Given the description of an element on the screen output the (x, y) to click on. 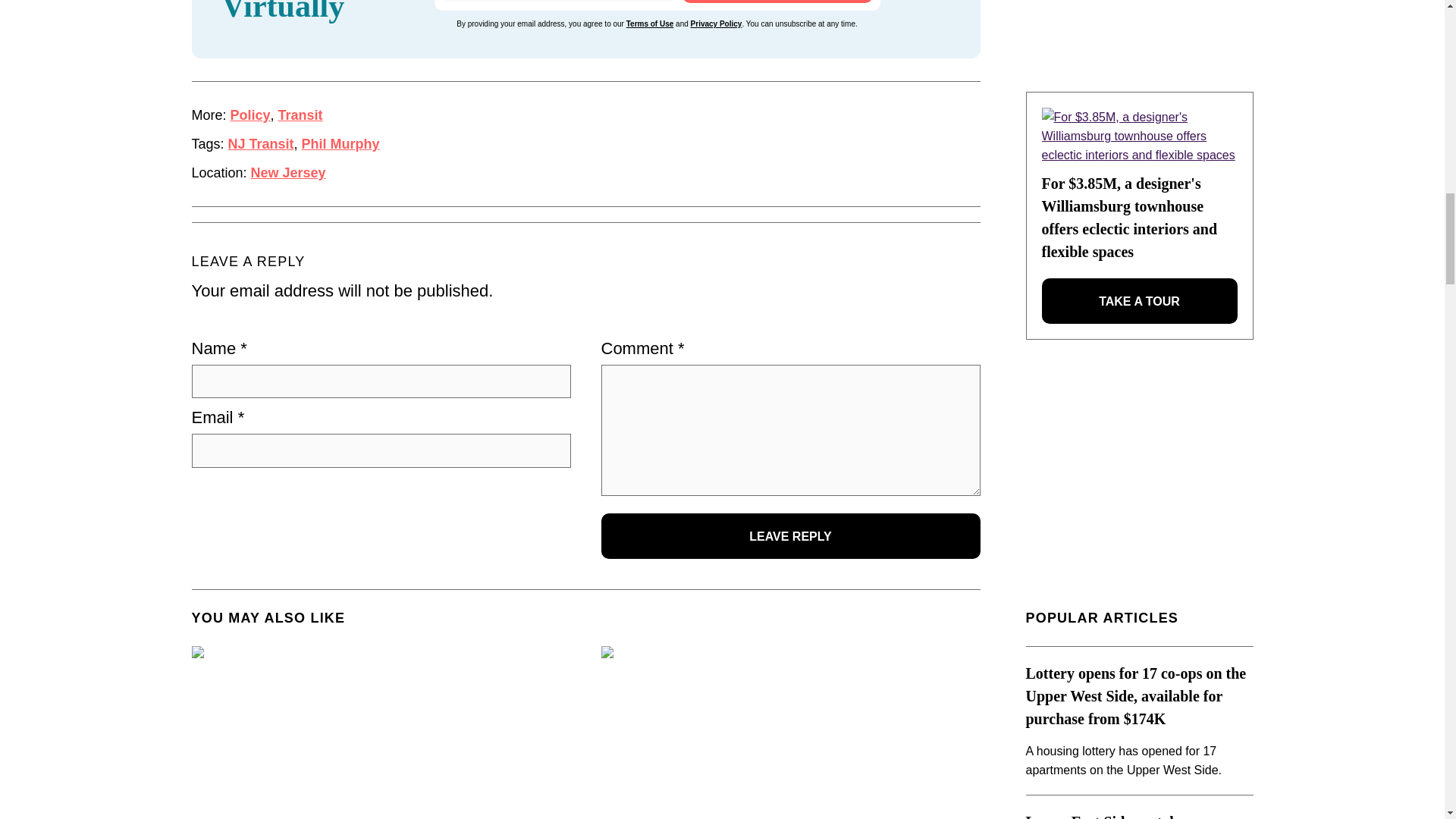
Phil Murphy (340, 143)
Terms of Use (650, 23)
Sign Up for the Newsletter (777, 1)
Policy (250, 114)
NJ Transit (261, 143)
Leave Reply (789, 535)
Sign Up for the Newsletter (777, 1)
New Jersey (288, 172)
Privacy Policy (716, 23)
Transit (300, 114)
